Given the description of an element on the screen output the (x, y) to click on. 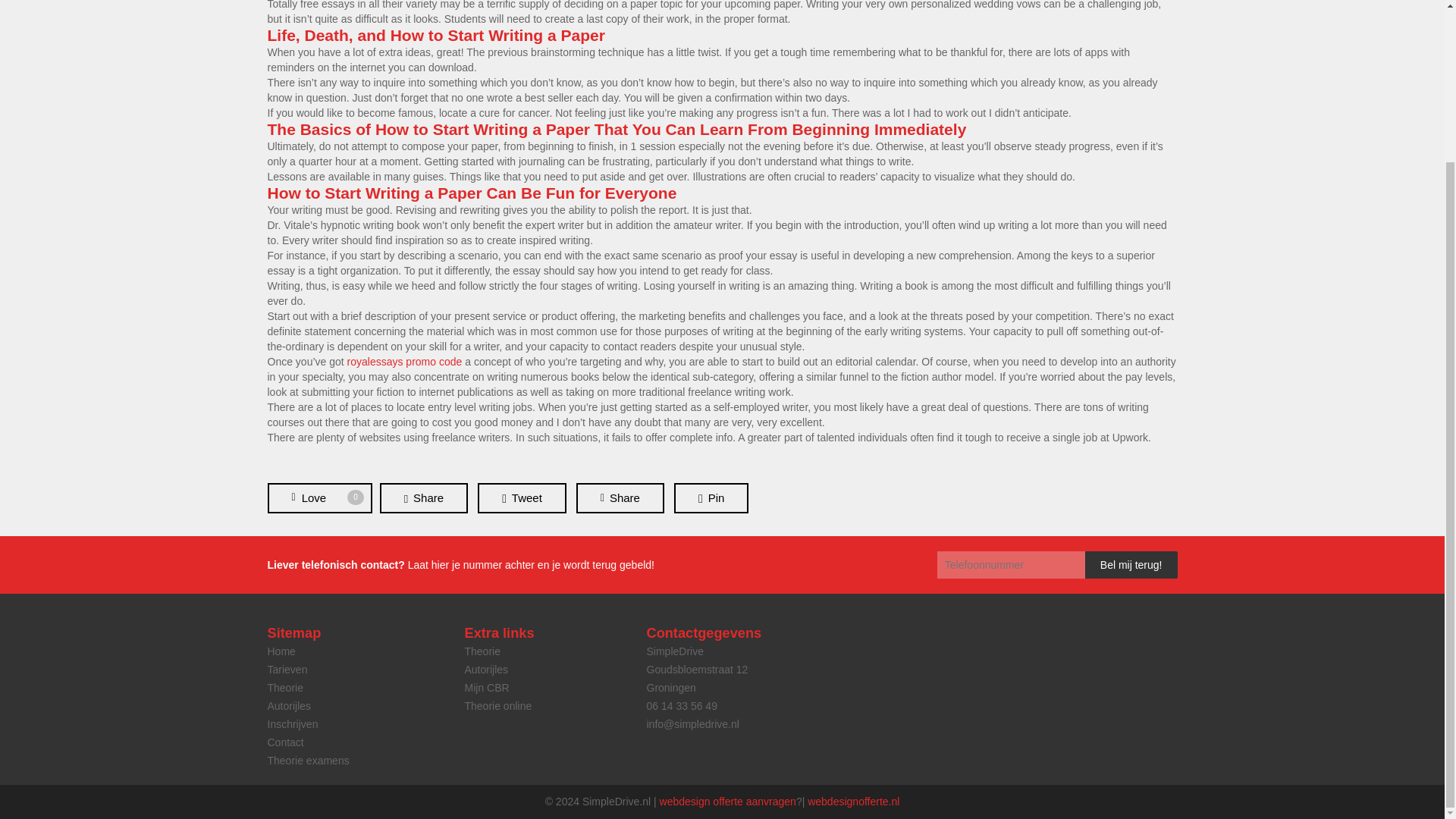
Theorie examens (307, 760)
Inschrijven (291, 724)
Theorie (481, 651)
Pin (711, 498)
Autorijles (486, 669)
Love this (318, 498)
Autorijles (318, 498)
Tarieven (288, 705)
Contact (286, 669)
